Given the description of an element on the screen output the (x, y) to click on. 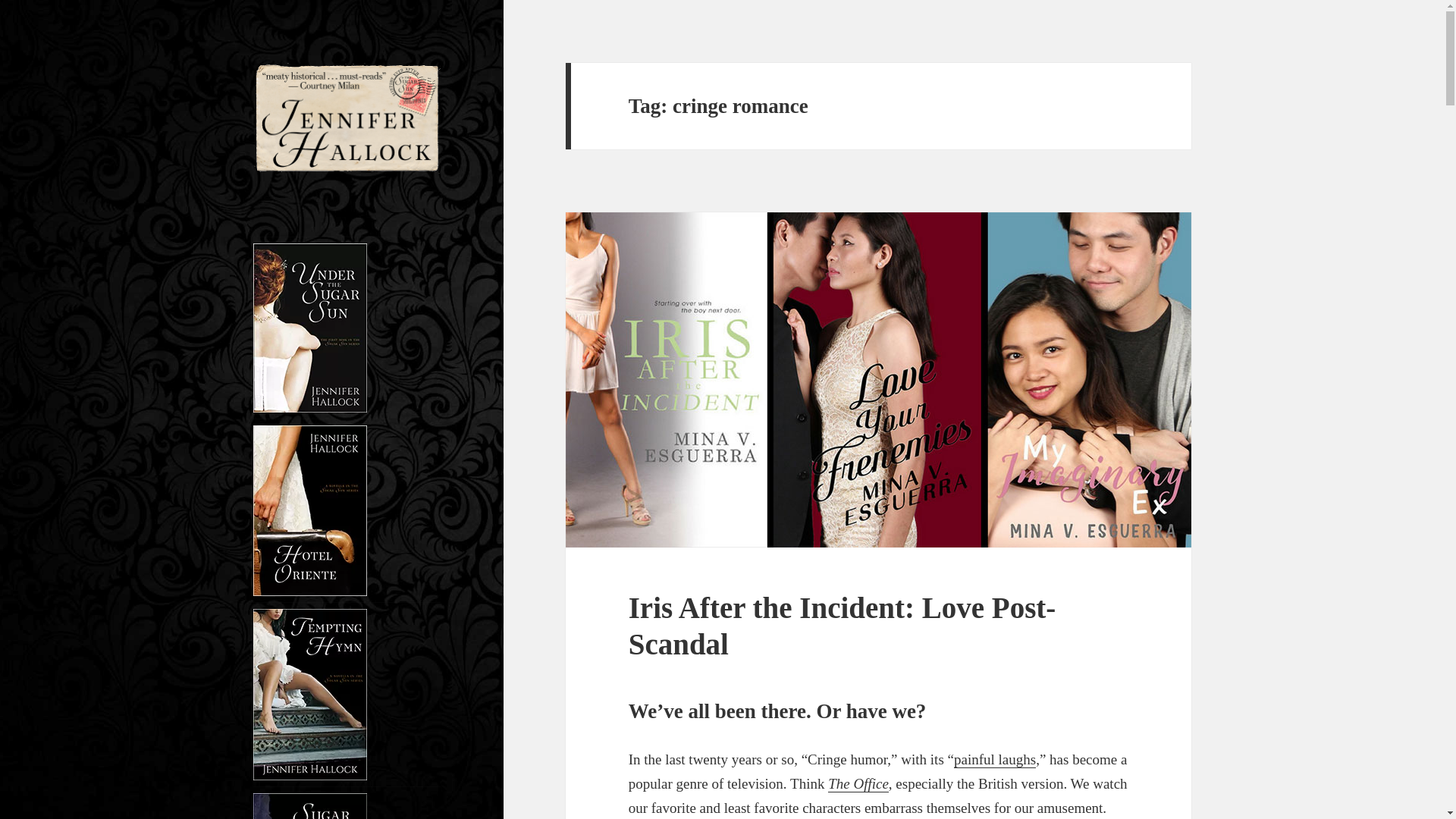
painful laughs (994, 759)
Iris After the Incident: Love Post-Scandal (842, 625)
The Office (858, 783)
Jennifer Hallock (332, 197)
